Given the description of an element on the screen output the (x, y) to click on. 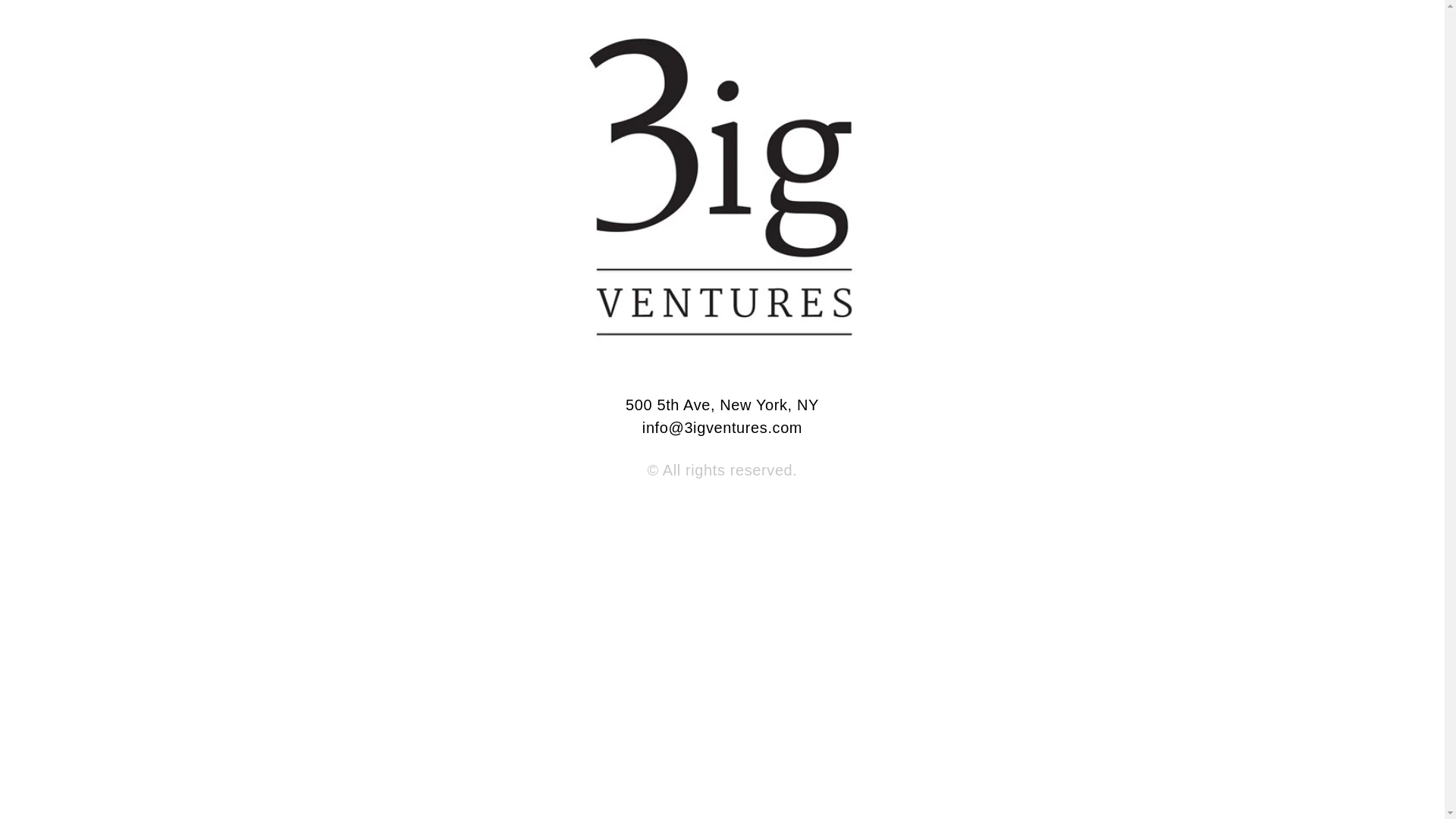
info@3igventures.com Element type: text (722, 427)
